Given the description of an element on the screen output the (x, y) to click on. 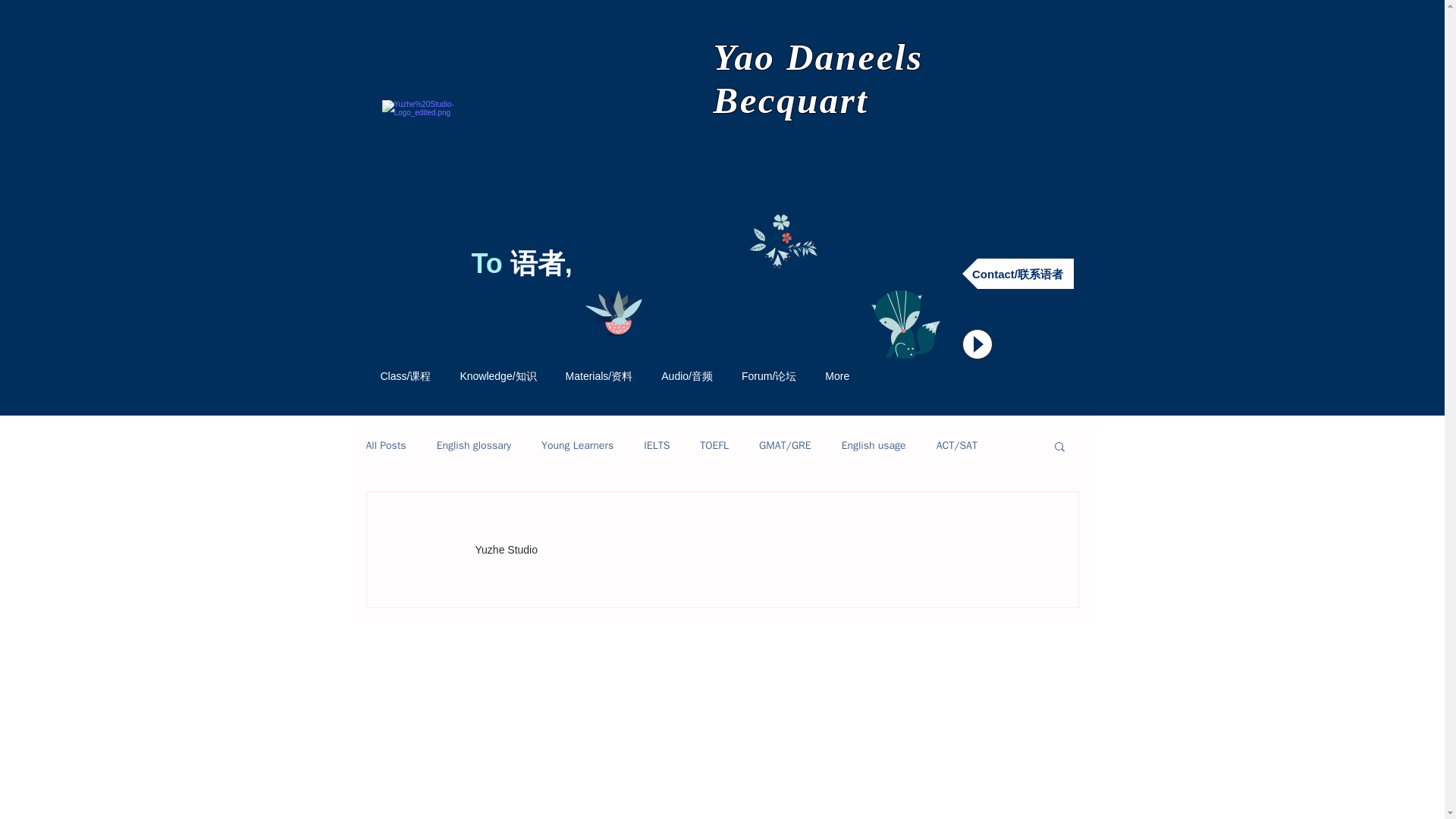
Young Learners (576, 445)
Language enthusiast (438, 156)
All Posts (385, 445)
English usage (873, 445)
IELTS (656, 445)
English glossary (473, 445)
TOEFL (714, 445)
To (491, 263)
Yuzhe Studio (501, 549)
